Given the description of an element on the screen output the (x, y) to click on. 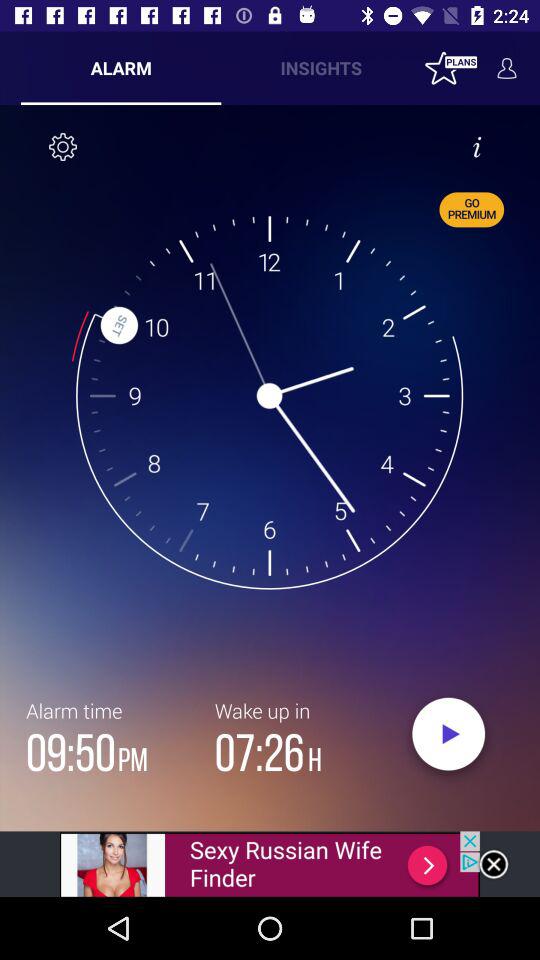
to close the video (493, 864)
